Given the description of an element on the screen output the (x, y) to click on. 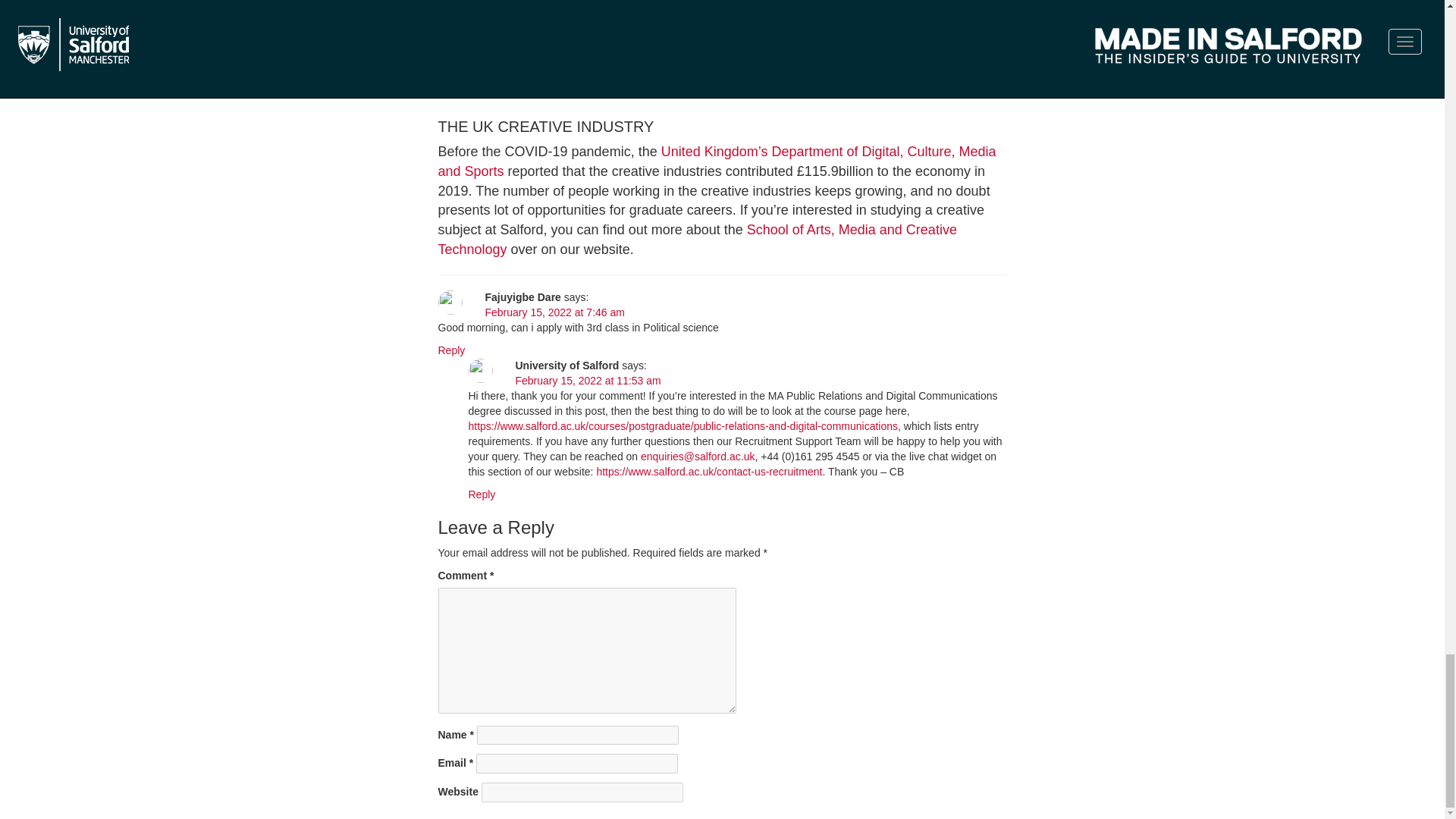
February 15, 2022 at 7:46 am (554, 312)
Reply (482, 494)
School of Arts, Media and Creative Technology (697, 239)
February 15, 2022 at 11:53 am (588, 380)
Reply (451, 349)
